Given the description of an element on the screen output the (x, y) to click on. 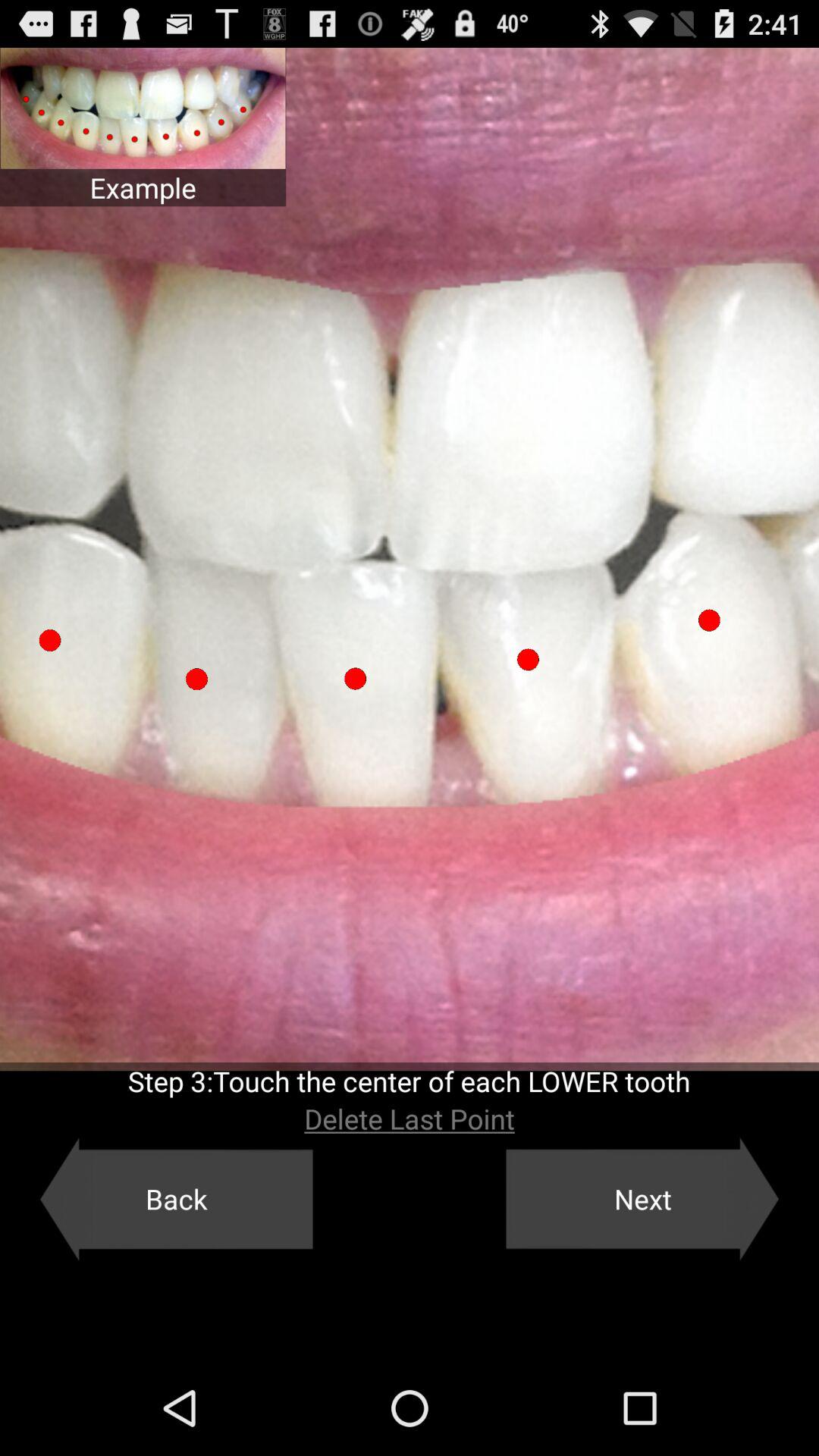
turn off item next to next item (175, 1198)
